Given the description of an element on the screen output the (x, y) to click on. 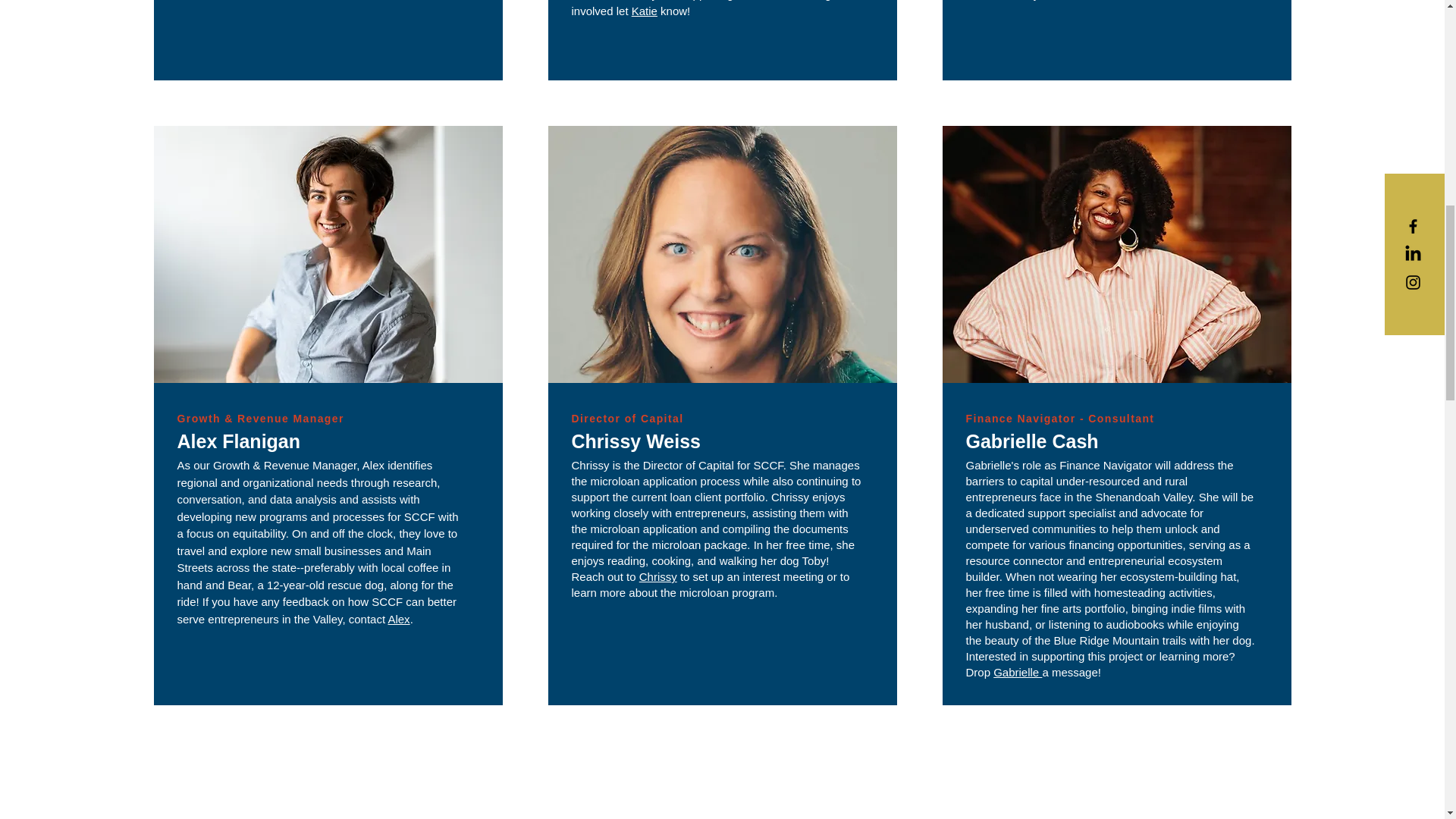
Gabrielle  (1017, 671)
Chrissy (658, 576)
Katie (644, 10)
Alex (398, 618)
